Given the description of an element on the screen output the (x, y) to click on. 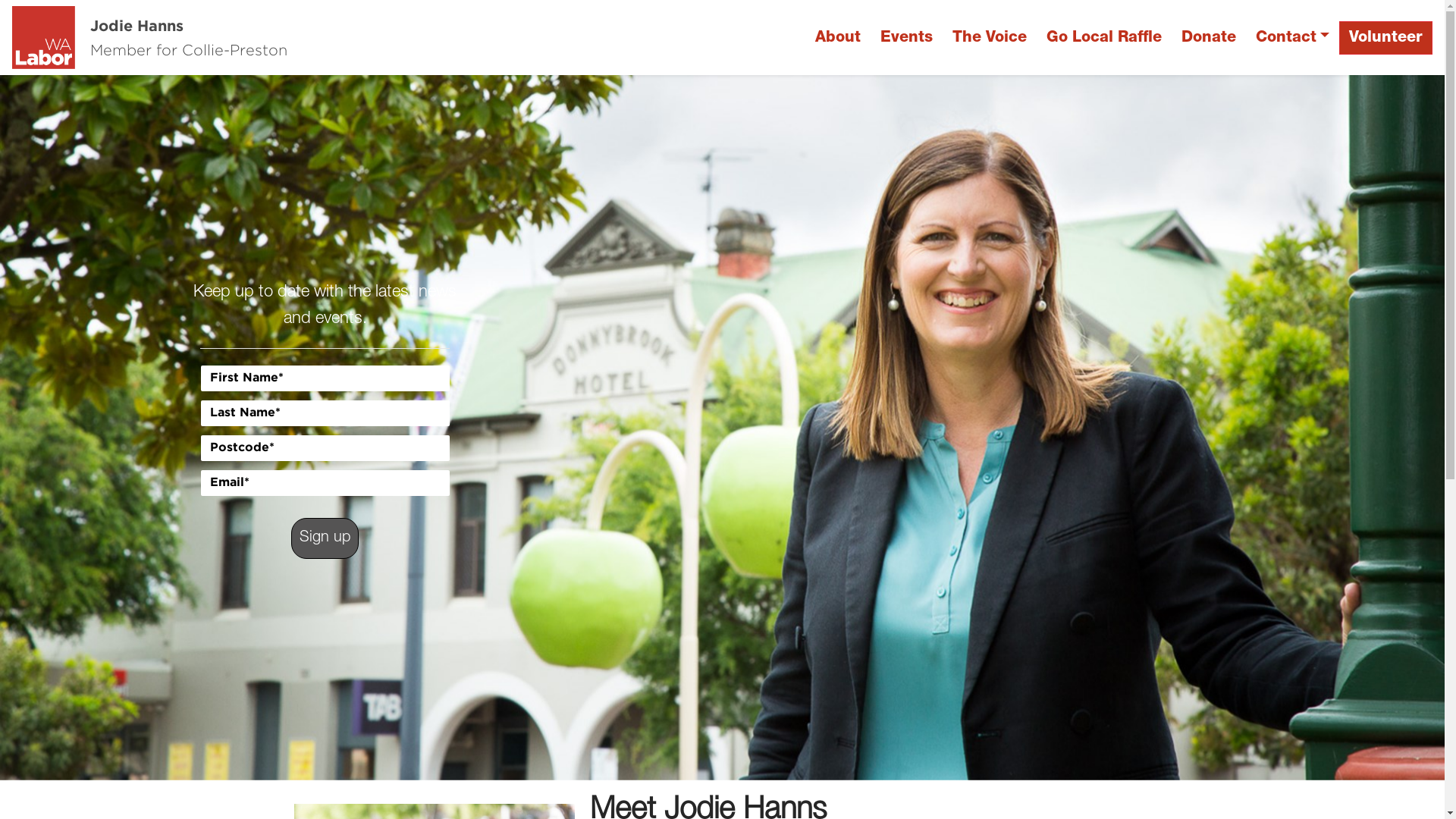
The Voice Element type: text (989, 37)
Go Local Raffle Element type: text (1103, 37)
Contact Element type: text (1292, 37)
Donate Element type: text (1208, 37)
Previous Element type: text (108, 427)
Sign up Element type: text (324, 537)
Events Element type: text (906, 37)
Volunteer Element type: text (1385, 37)
Next Element type: text (1335, 427)
About Element type: text (837, 37)
